Given the description of an element on the screen output the (x, y) to click on. 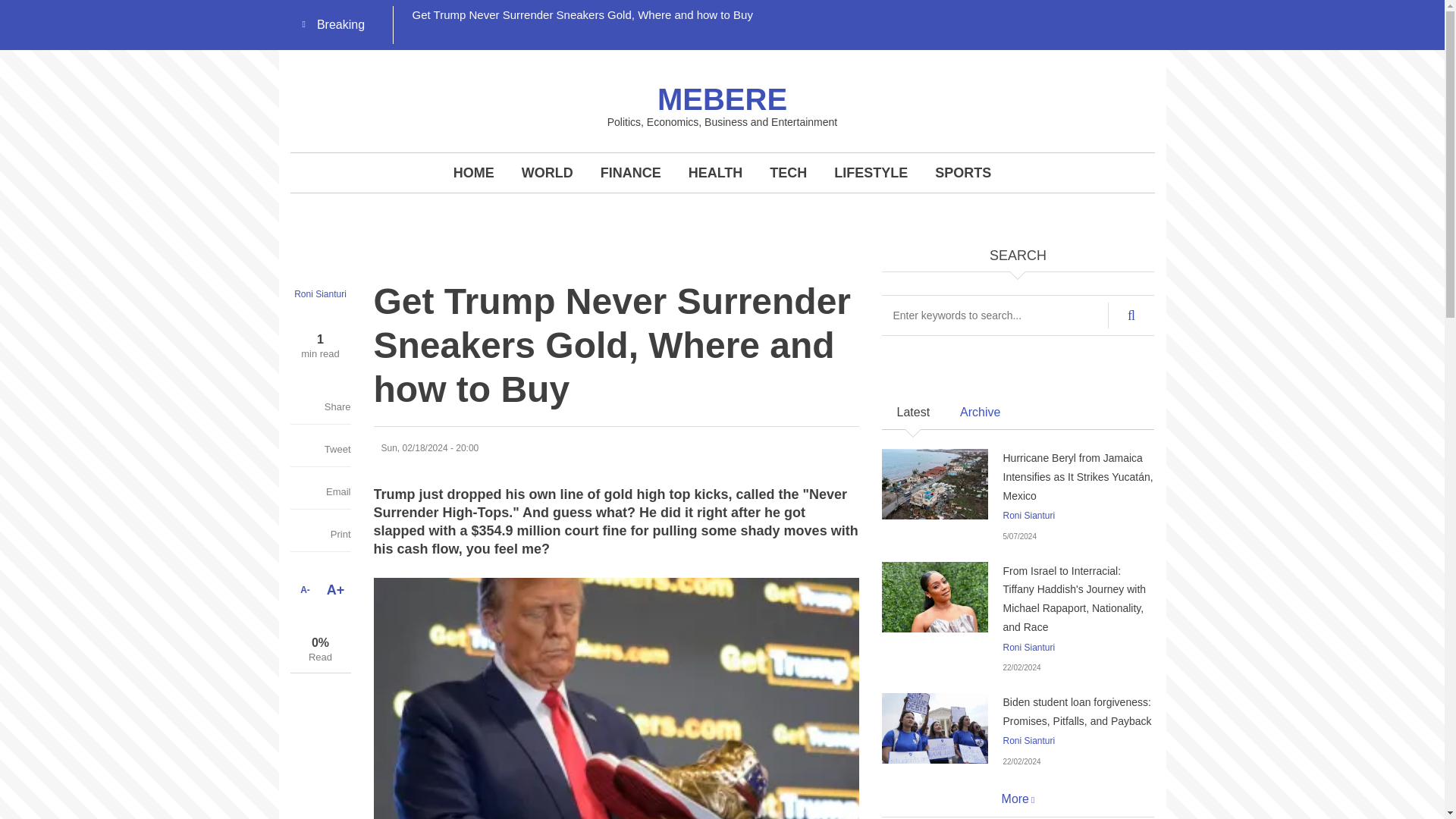
twitter (931, 15)
Breaking (336, 25)
Roni Sianturi (1028, 647)
WORLD (547, 172)
Sunday, February 18, 2024 - 20:00 (429, 448)
google-plus (965, 15)
Hurricane Beryl (933, 483)
Tweet (331, 449)
A- (304, 589)
View user profile. (1028, 740)
SPORTS (962, 172)
Roni Sianturi (1028, 515)
HEALTH (716, 172)
